Given the description of an element on the screen output the (x, y) to click on. 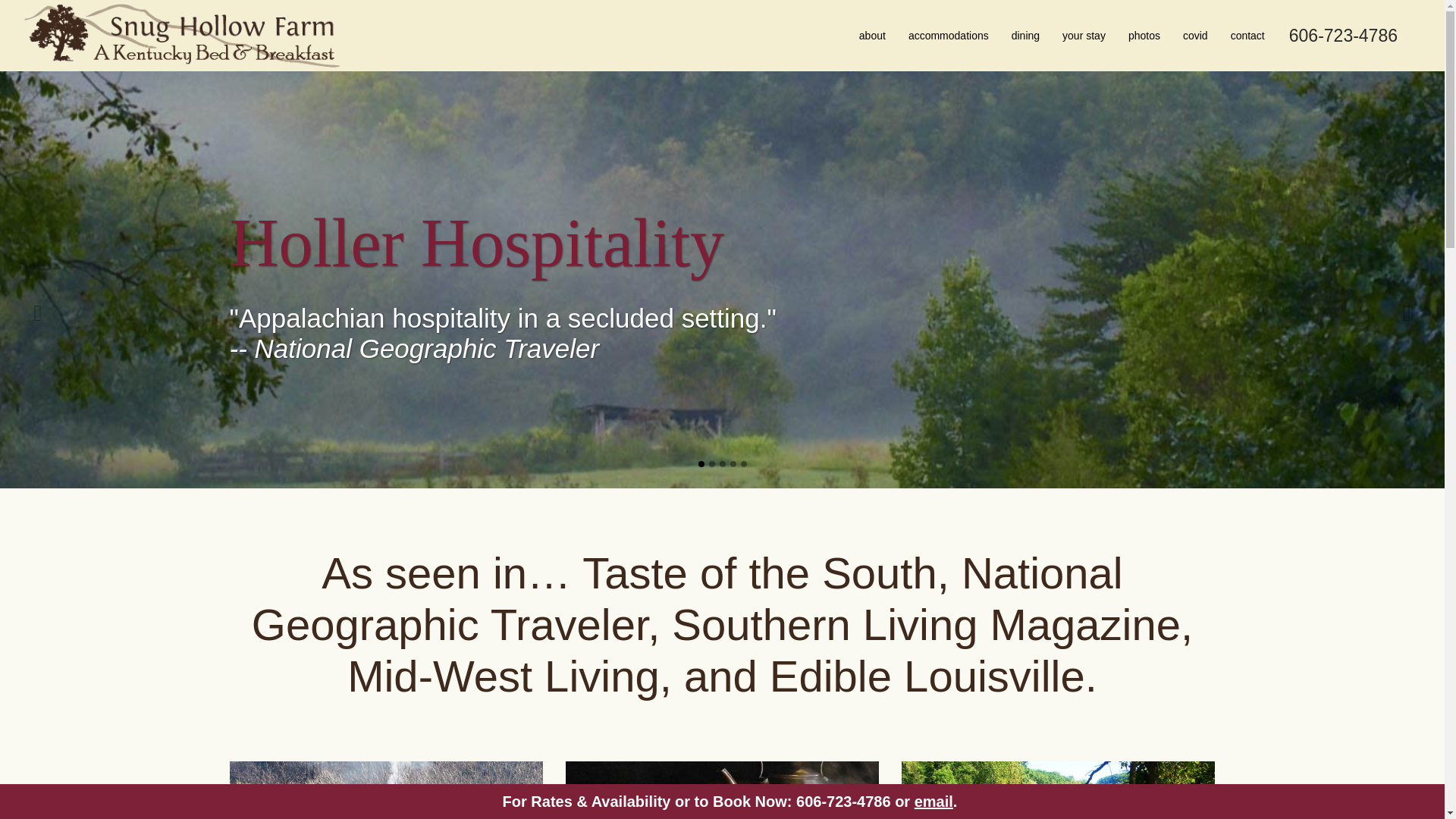
your stay (1083, 35)
606-723-4786 (1342, 35)
accommodations (948, 35)
